Given the description of an element on the screen output the (x, y) to click on. 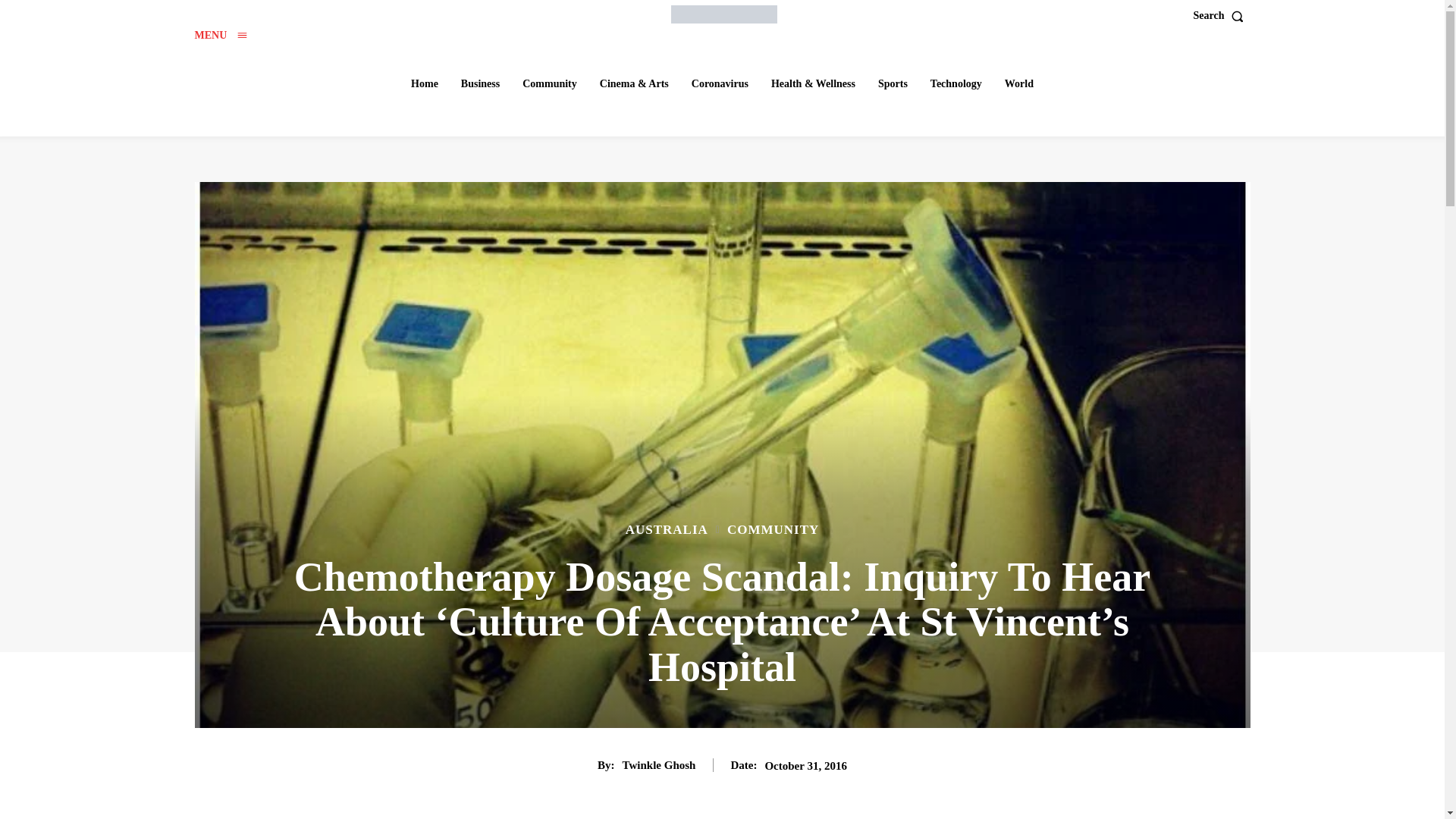
Technology (956, 83)
World (1019, 83)
The Indian Telegraph (724, 13)
MENU (220, 34)
Community (550, 83)
Business (479, 83)
Home (424, 83)
Coronavirus (719, 83)
Search (1221, 15)
Sports (892, 83)
